Given the description of an element on the screen output the (x, y) to click on. 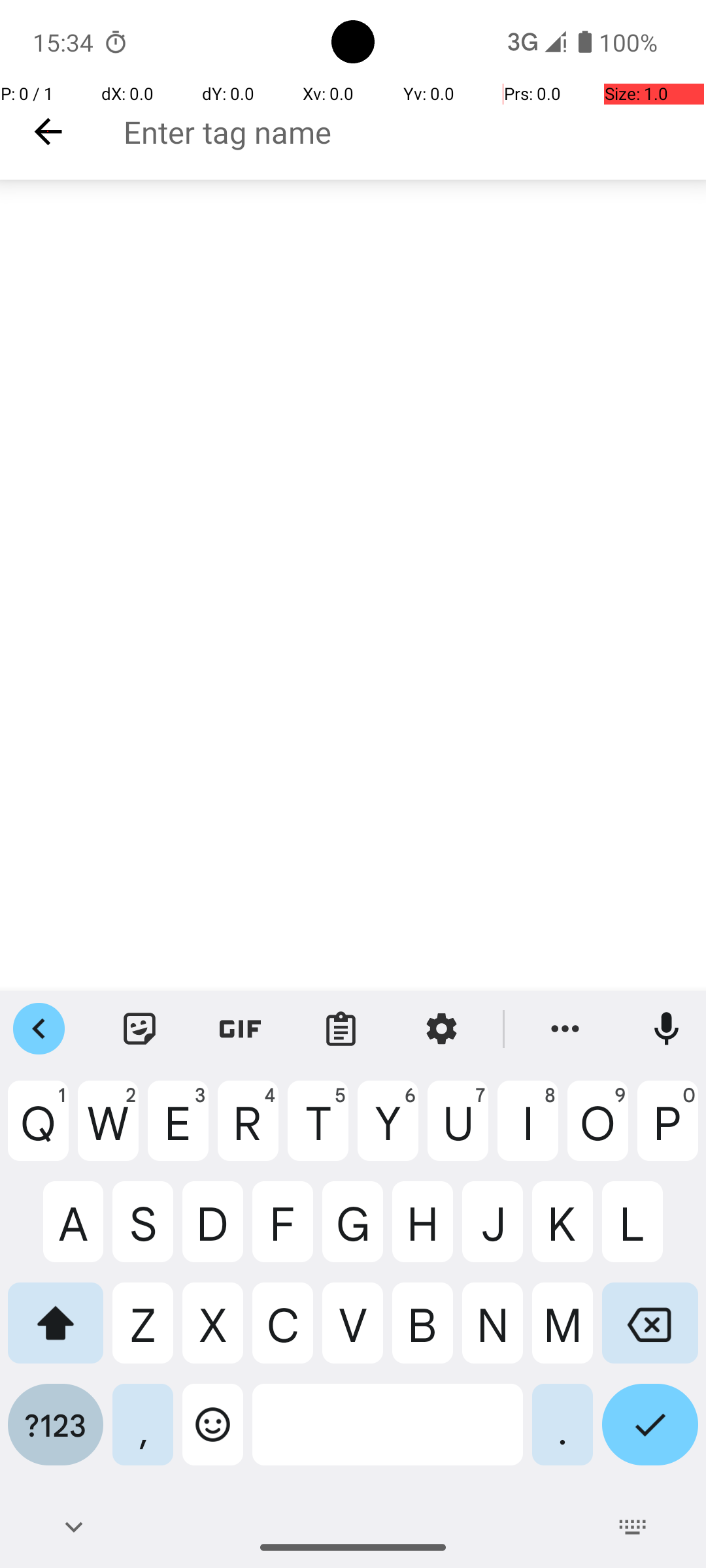
Enter tag name Element type: android.widget.EditText (414, 131)
